Given the description of an element on the screen output the (x, y) to click on. 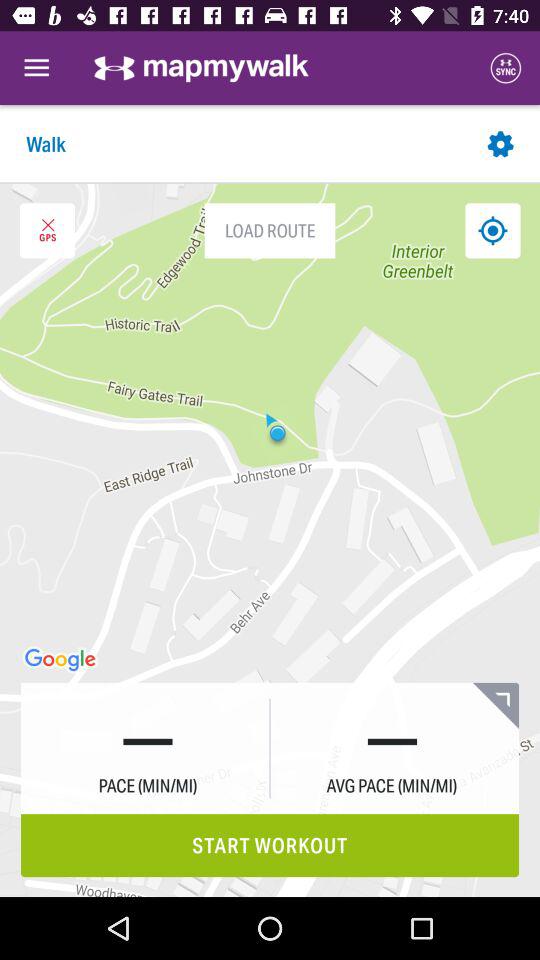
find current location (492, 230)
